Given the description of an element on the screen output the (x, y) to click on. 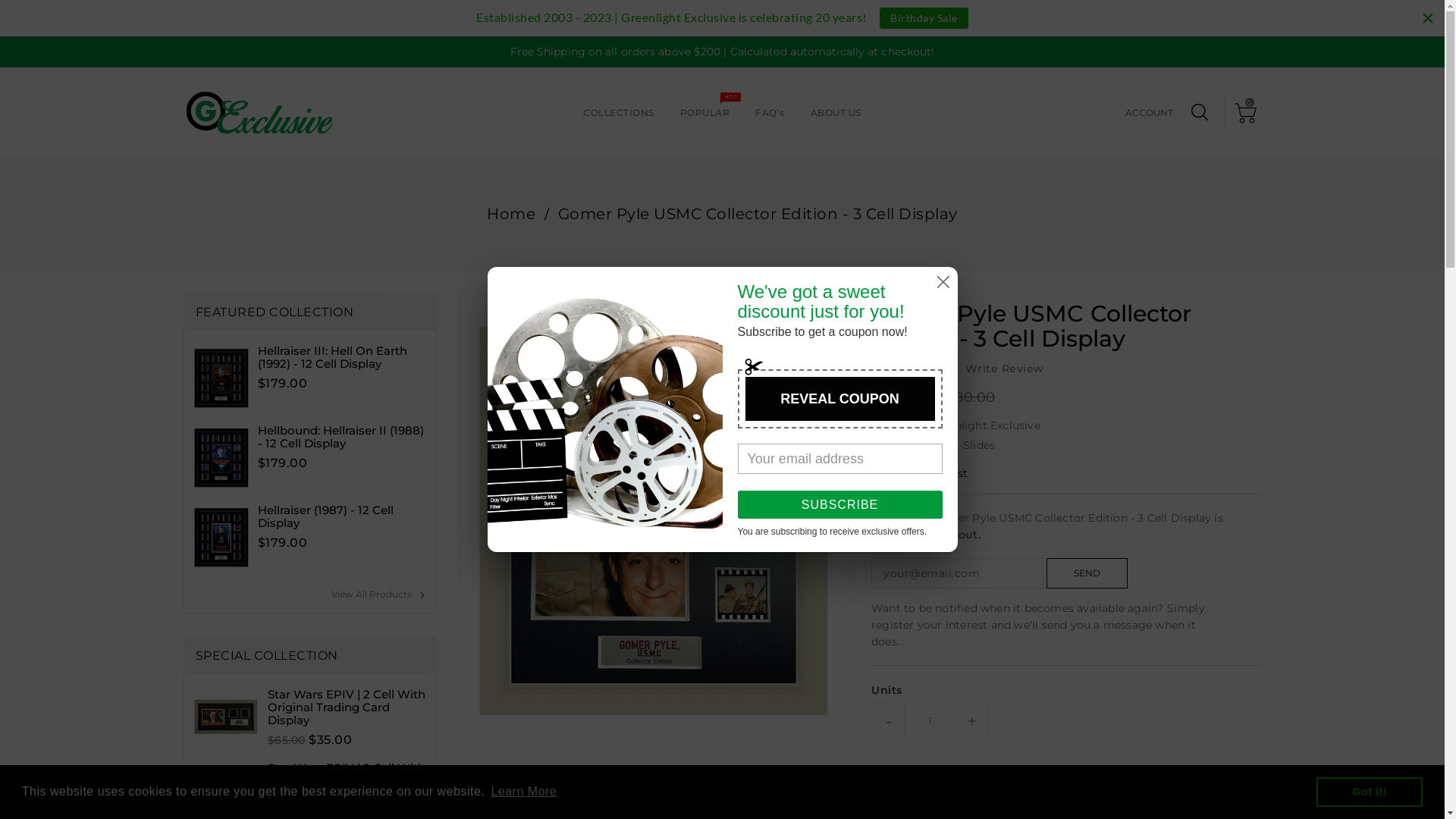
View All Products
navigate_next Element type: text (382, 596)
POPULAR
HOT Element type: text (704, 110)
Star Wars EPIV | 2 Cell With Original Trading Card Display Element type: text (346, 780)
Hellraiser III: Hell On Earth (1992) - 12 Cell Display Element type: text (342, 357)
Got it! Element type: text (1369, 791)
Home Element type: text (510, 213)
Learn More Element type: text (523, 791)
ACCOUNT Element type: text (1149, 114)
Hellraiser (1987) - 12 Cell Display Element type: text (342, 516)
Send Element type: text (1086, 573)
ABOUT US Element type: text (835, 110)
Add to wishlist Element type: text (919, 473)
FAQ's Element type: text (769, 110)
COLLECTIONS Element type: text (618, 110)
Write Review Element type: text (1003, 368)
Birthday Sale Element type: text (923, 17)
Hellbound: Hellraiser II (1988) - 12 Cell Display Element type: text (342, 436)
Star Wars EPIV | 2 Cell With Original Trading Card Display Element type: text (346, 706)
